Given the description of an element on the screen output the (x, y) to click on. 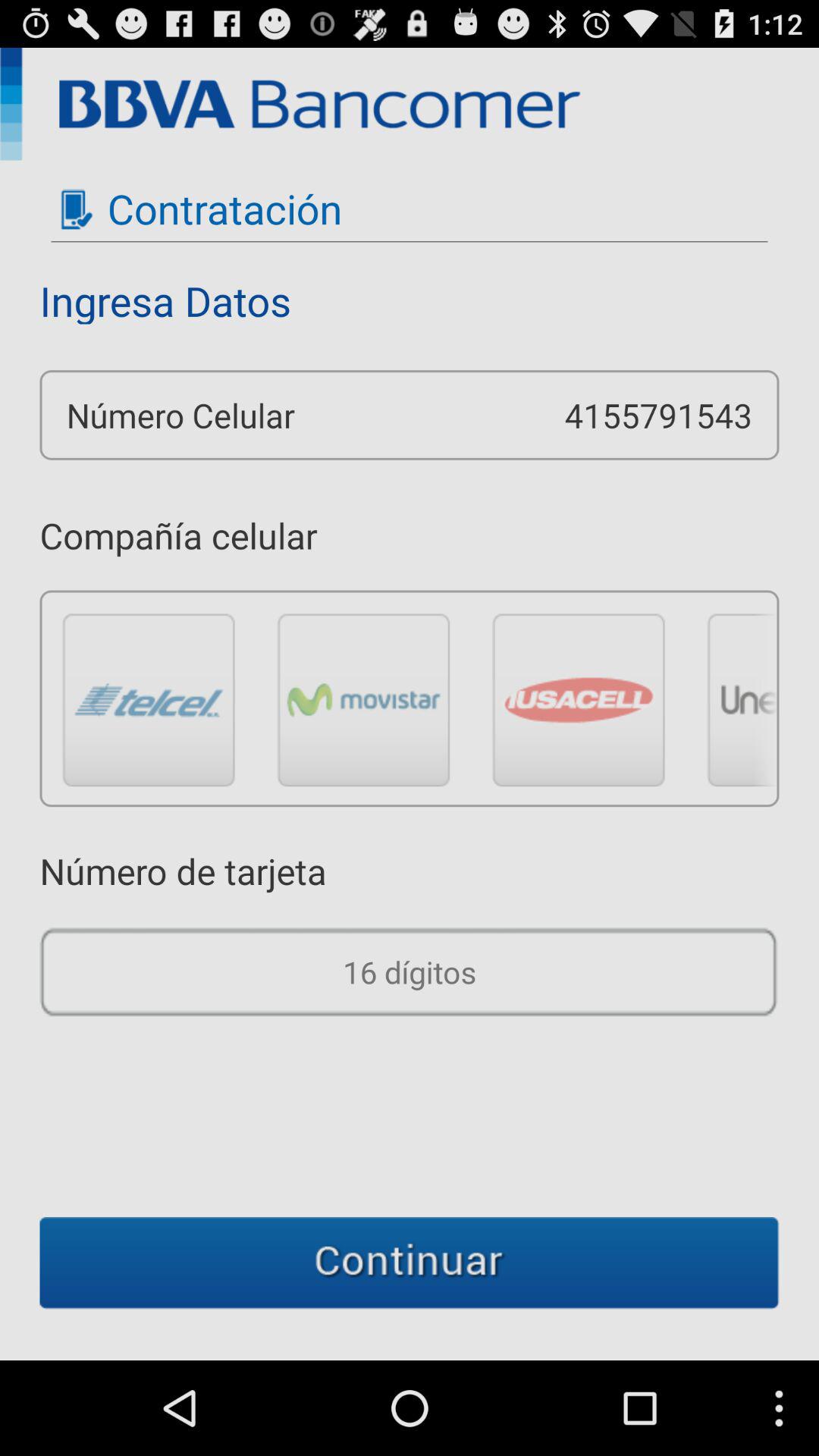
choose cellular provider (363, 699)
